Given the description of an element on the screen output the (x, y) to click on. 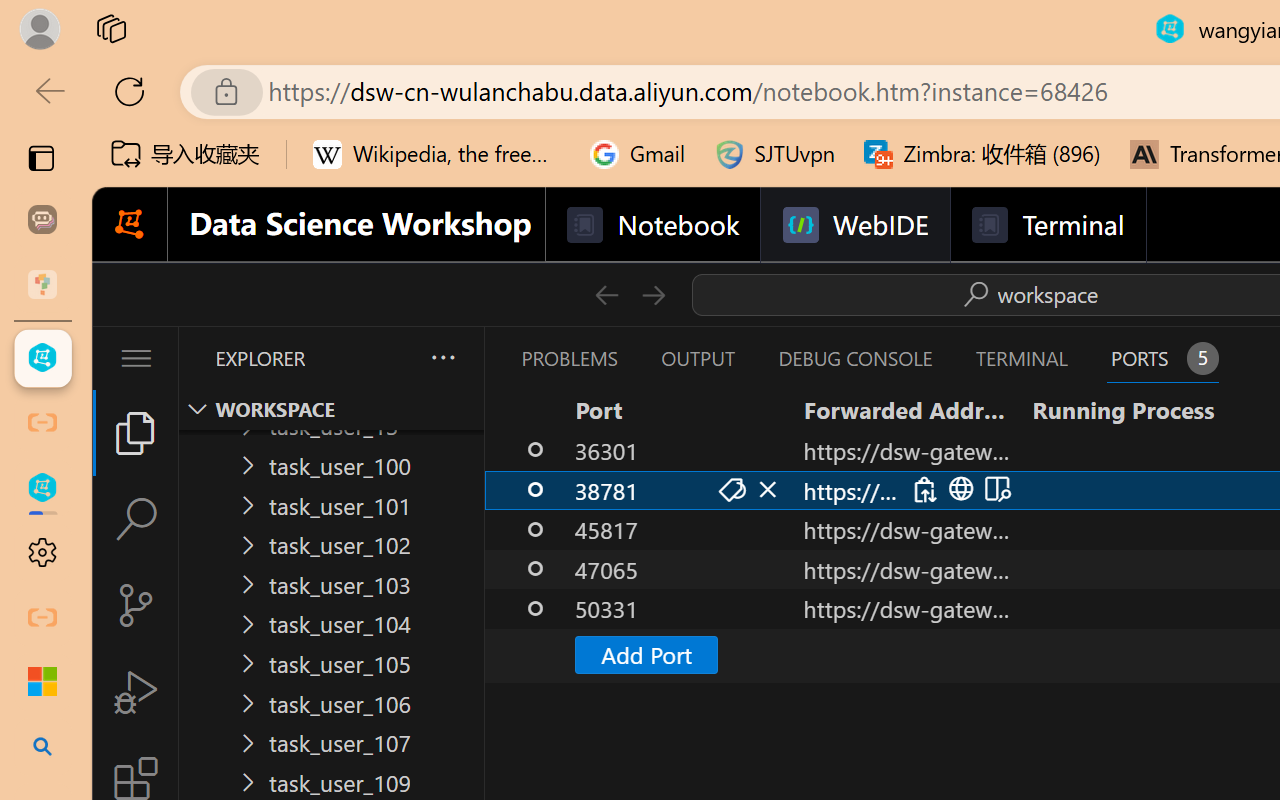
Application Menu (135, 358)
Wikipedia, the free encyclopedia (437, 154)
Preview in Editor (994, 489)
Source Control (Ctrl+Shift+G) (135, 604)
wangyian_dsw - DSW (42, 357)
Explorer Section: workspace (331, 409)
Terminal (Ctrl+`) (1021, 358)
WebIDE (854, 225)
Problems (Ctrl+Shift+M) (567, 358)
Ports - 5 forwarded ports Ports - 5 forwarded ports (1162, 358)
Notebook (652, 225)
